Given the description of an element on the screen output the (x, y) to click on. 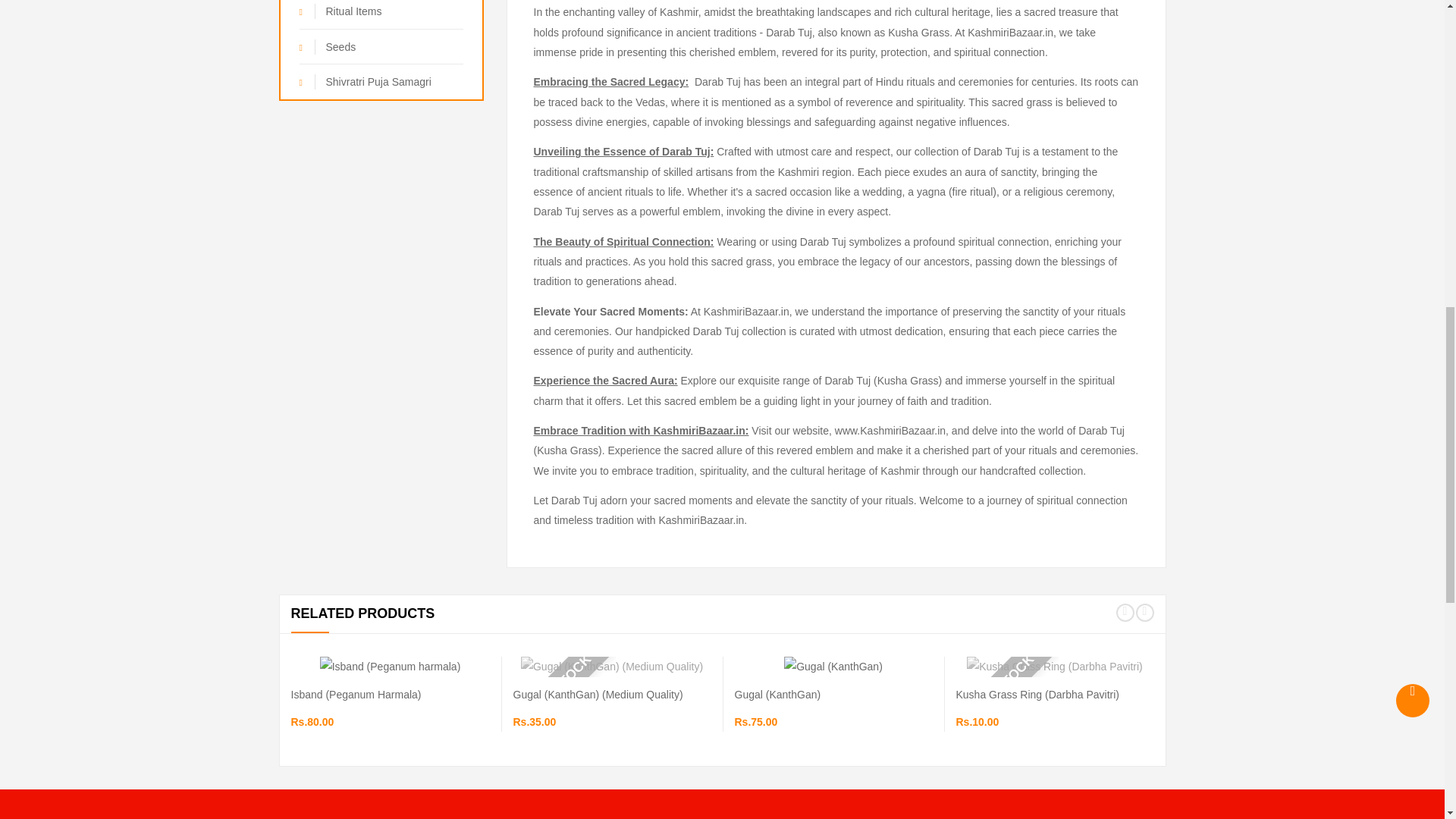
Seeds (380, 46)
Shivratri Puja Samagri (380, 81)
Ritual Items (380, 14)
